Given the description of an element on the screen output the (x, y) to click on. 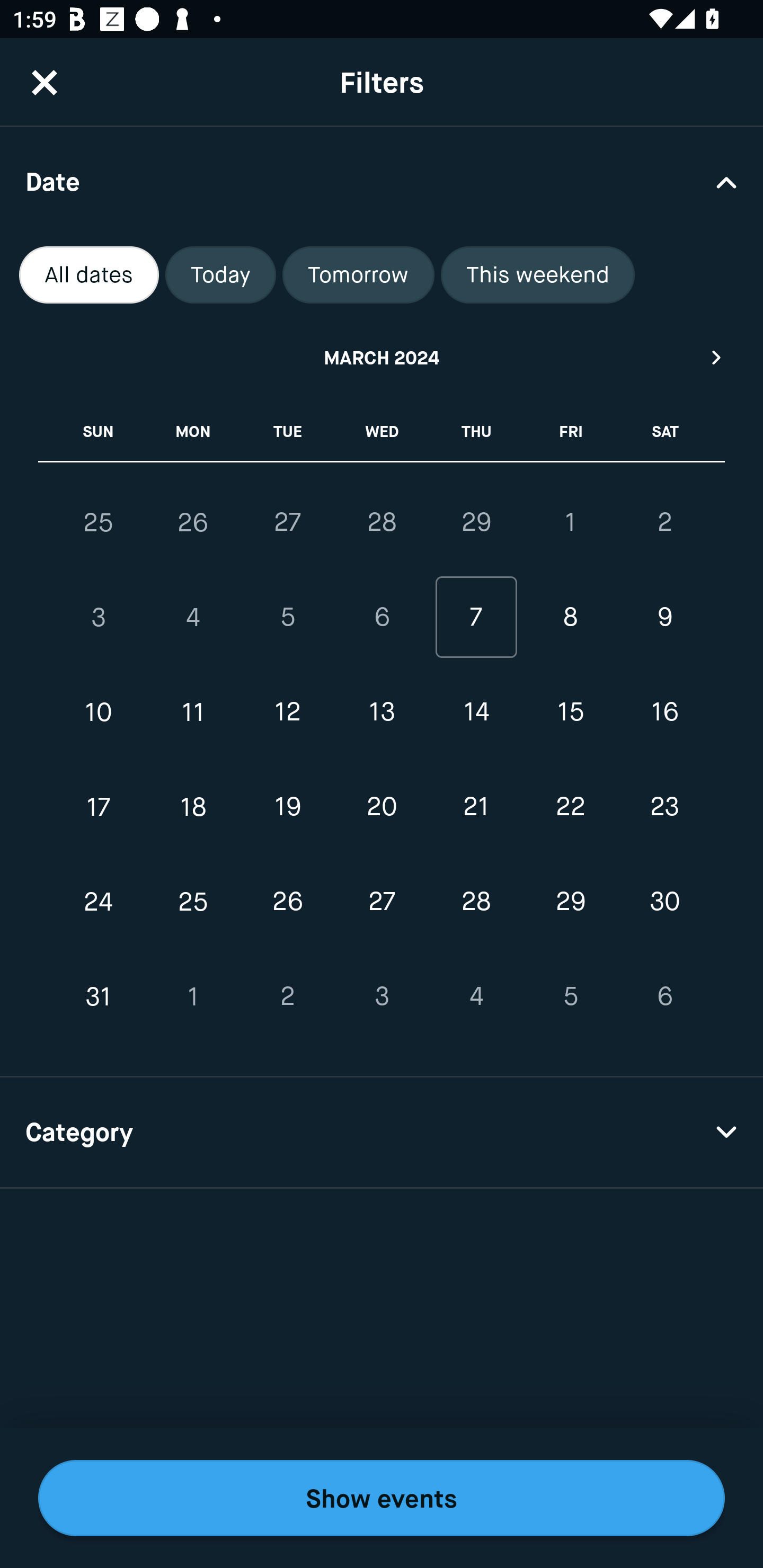
CloseButton (44, 82)
Date Drop Down Arrow (381, 181)
All dates (88, 274)
Today (220, 274)
Tomorrow (358, 274)
This weekend (537, 274)
Next (717, 357)
25 (98, 522)
26 (192, 522)
27 (287, 522)
28 (381, 522)
29 (475, 522)
1 (570, 522)
2 (664, 522)
3 (98, 617)
4 (192, 617)
5 (287, 617)
6 (381, 617)
7 (475, 617)
8 (570, 617)
9 (664, 617)
10 (98, 711)
11 (192, 711)
12 (287, 711)
13 (381, 711)
14 (475, 711)
15 (570, 711)
16 (664, 711)
17 (98, 806)
18 (192, 806)
19 (287, 806)
20 (381, 806)
21 (475, 806)
22 (570, 806)
23 (664, 806)
24 (98, 901)
25 (192, 901)
26 (287, 901)
27 (381, 901)
28 (475, 901)
29 (570, 901)
30 (664, 901)
31 (98, 996)
1 (192, 996)
2 (287, 996)
3 (381, 996)
4 (475, 996)
5 (570, 996)
6 (664, 996)
Category Drop Down Arrow (381, 1132)
Show events (381, 1497)
